Given the description of an element on the screen output the (x, y) to click on. 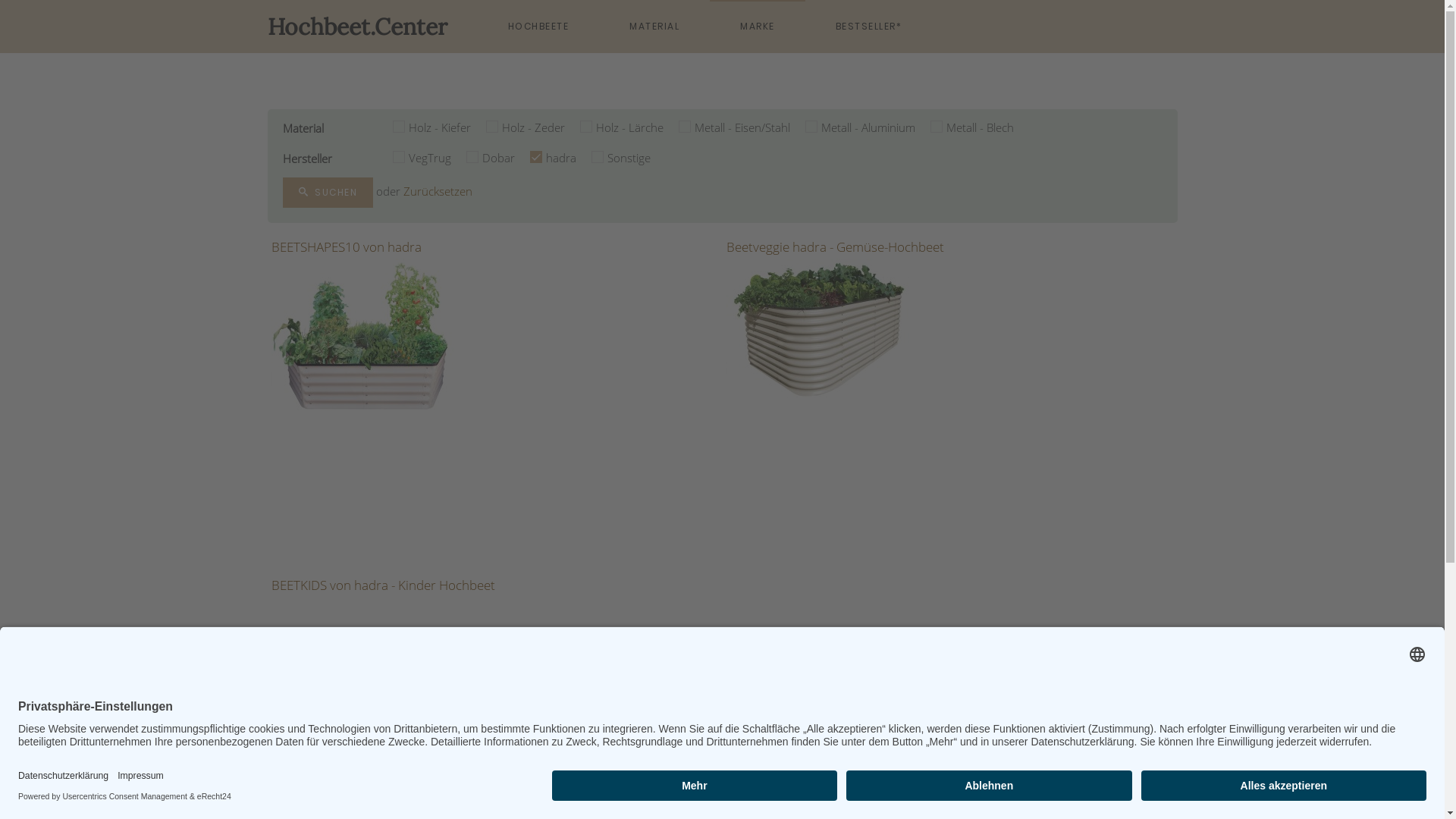
MARKE Element type: text (757, 26)
MATERIAL Element type: text (654, 26)
BEETSHAPES10 von hadra Element type: text (346, 246)
Hochbeet.Center Element type: text (356, 26)
BEETKIDS von hadra - Kinder Hochbeet Element type: text (383, 585)
BESTSELLER* Element type: text (868, 26)
HOCHBEETE Element type: text (538, 26)
SUCHEN Element type: text (327, 192)
BEETKIDS Kinder Hochbeet Element type: hover (362, 687)
Anbau Beispiel Element type: hover (362, 334)
